Given the description of an element on the screen output the (x, y) to click on. 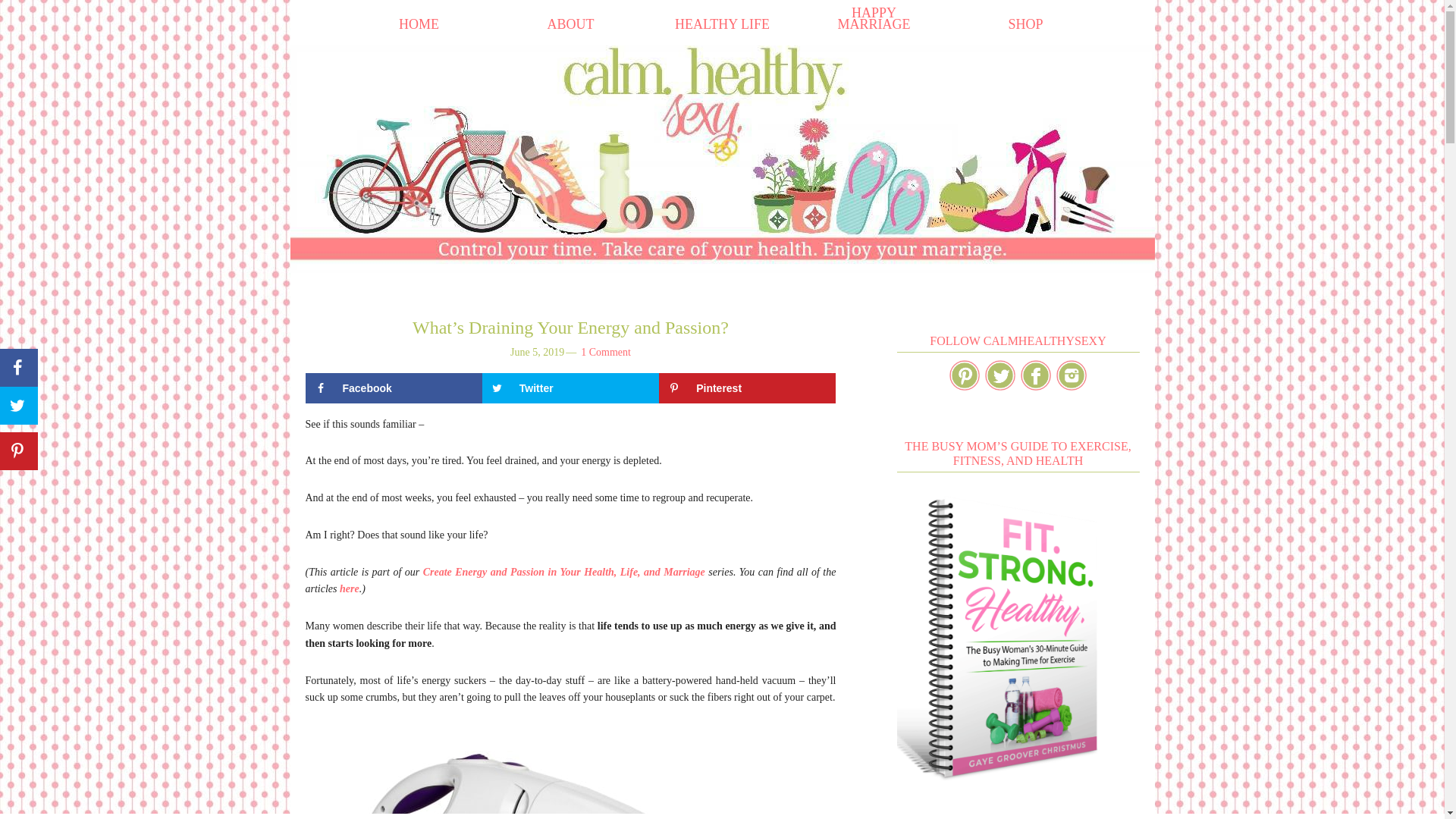
About (570, 24)
Shop (1024, 24)
ABOUT (570, 24)
Share on Twitter (570, 388)
Happy Marriage (873, 18)
HEALTHY LIFE (721, 24)
Share on Facebook (392, 388)
Facebook (392, 388)
Create Energy and Passion in Your Health, Life, and Marriage (563, 572)
1 Comment (605, 351)
Pinterest (747, 388)
1 Comment (605, 351)
Healthy Life (721, 24)
HOME (418, 24)
